Given the description of an element on the screen output the (x, y) to click on. 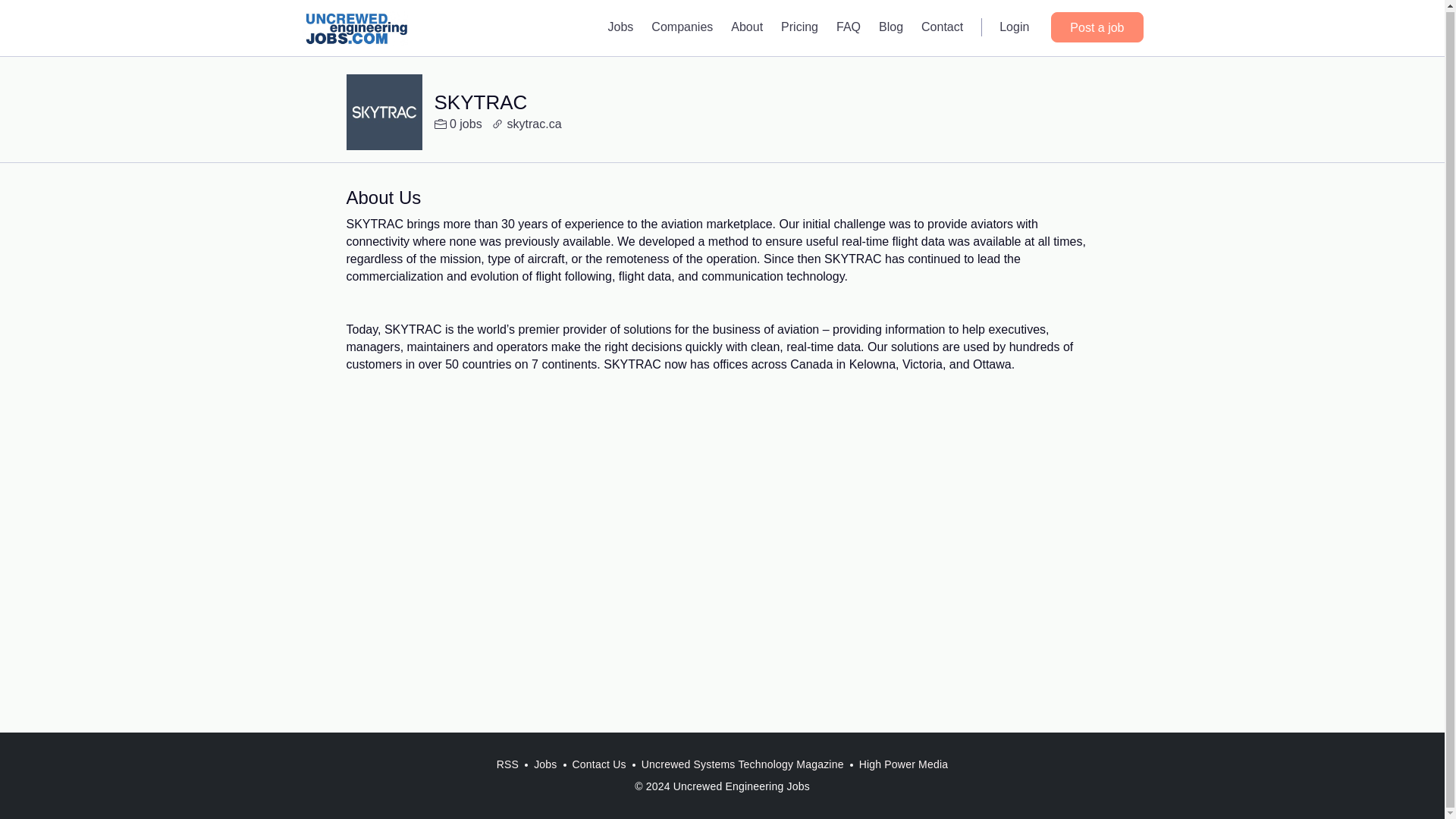
About (746, 25)
Contact Us (598, 764)
Login (1014, 25)
Uncrewed Systems Technology Magazine (742, 764)
0 jobs (457, 124)
High Power Media (903, 764)
FAQ (848, 25)
Jobs (620, 25)
Blog (890, 25)
skytrac.ca (526, 124)
